Given the description of an element on the screen output the (x, y) to click on. 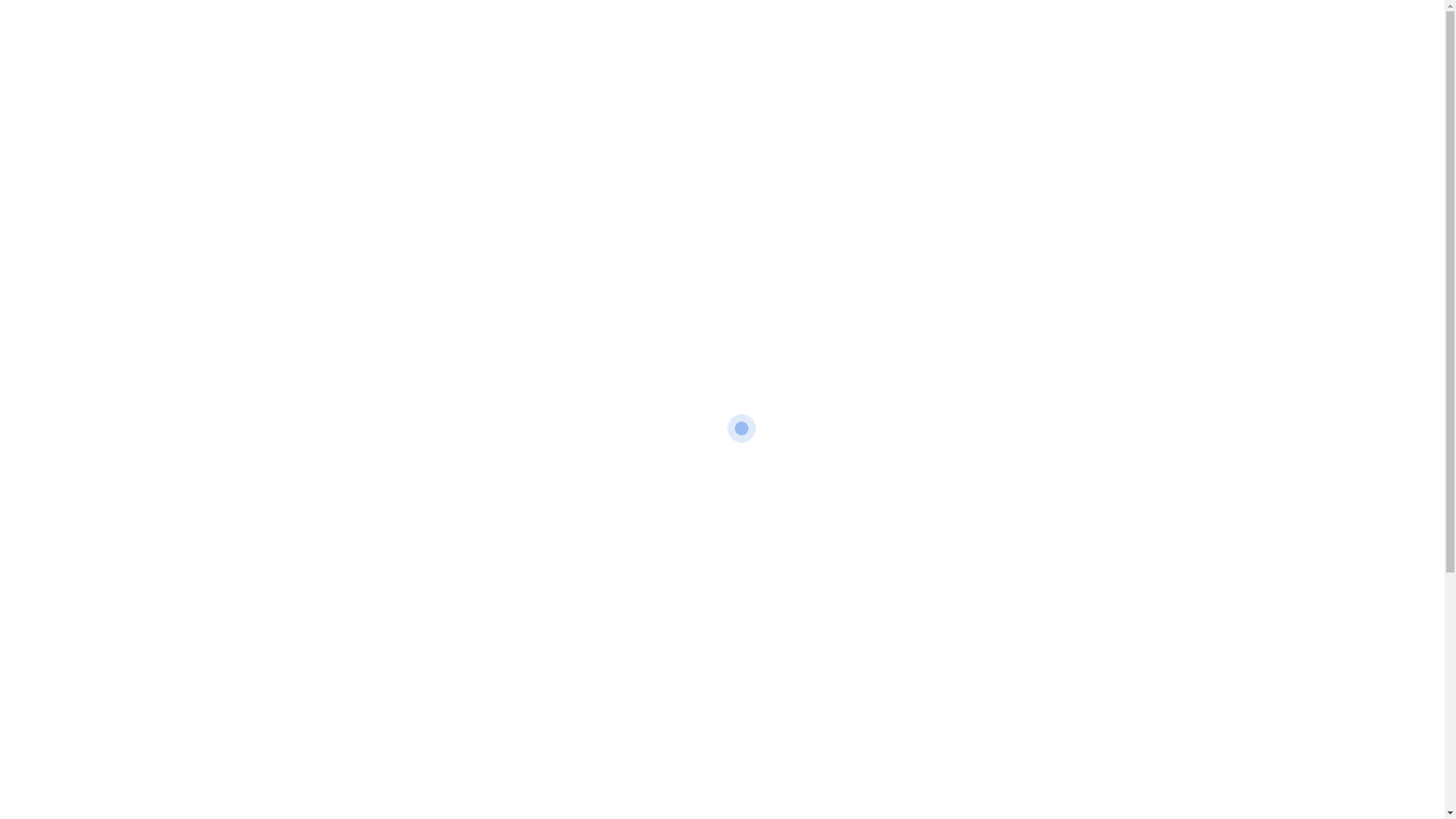
SERVICES Element type: text (723, 37)
HOME Element type: text (590, 37)
CONTACT Element type: text (793, 37)
Search Element type: text (877, 579)
Take Me Home Element type: text (722, 631)
ABOUT US Element type: text (651, 37)
Home Element type: text (690, 225)
